Given the description of an element on the screen output the (x, y) to click on. 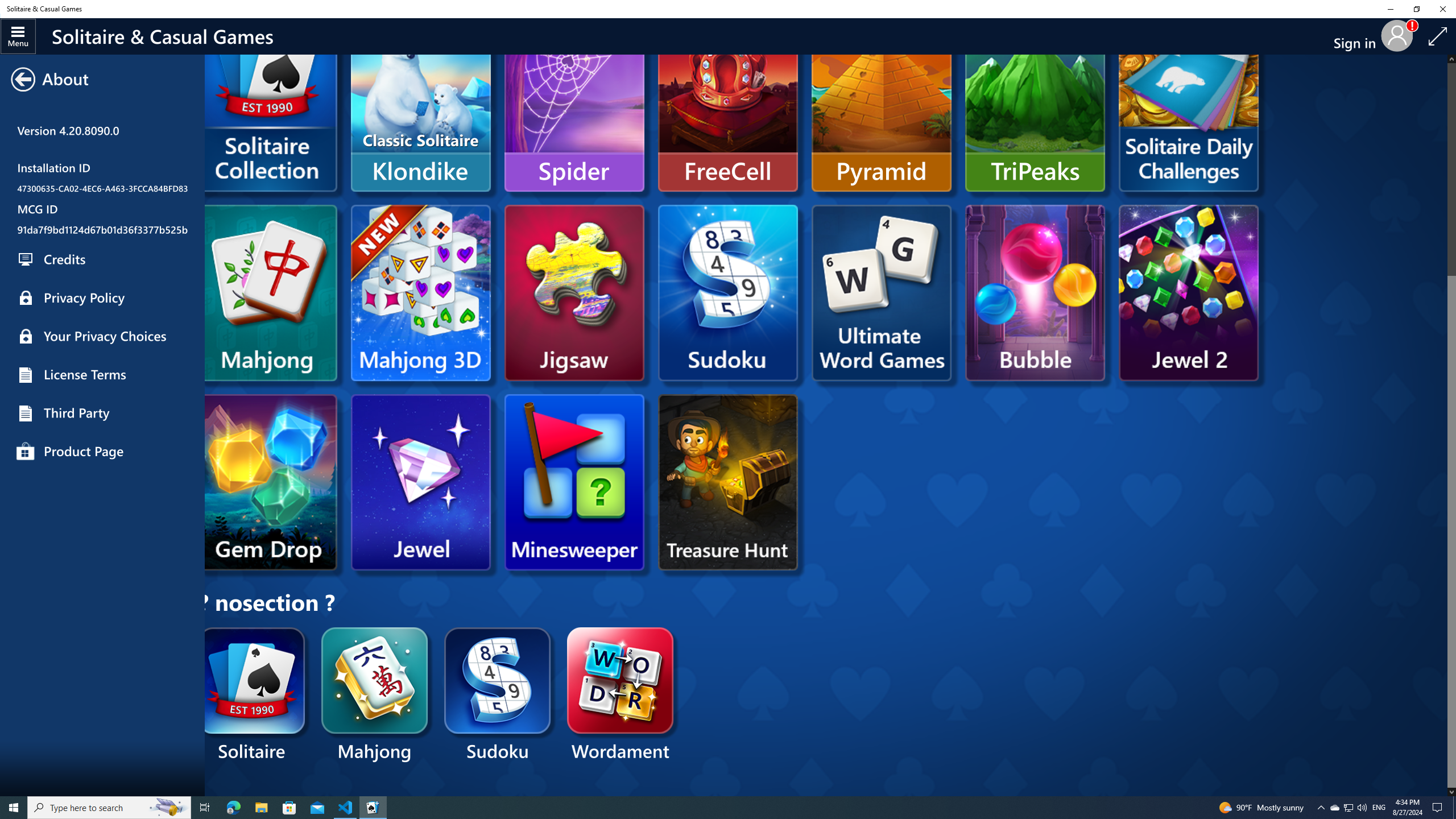
Support (102, 181)
Running applications (706, 807)
Mahjong (374, 695)
FreeCell (727, 103)
Options (102, 70)
File Explorer (261, 807)
Restore Solitaire & Casual Games (1416, 9)
Menu (18, 36)
Classic Solitaire, Klondike (420, 103)
Third Party (102, 412)
Credits (102, 259)
Microsoft Minesweeper (574, 481)
